Given the description of an element on the screen output the (x, y) to click on. 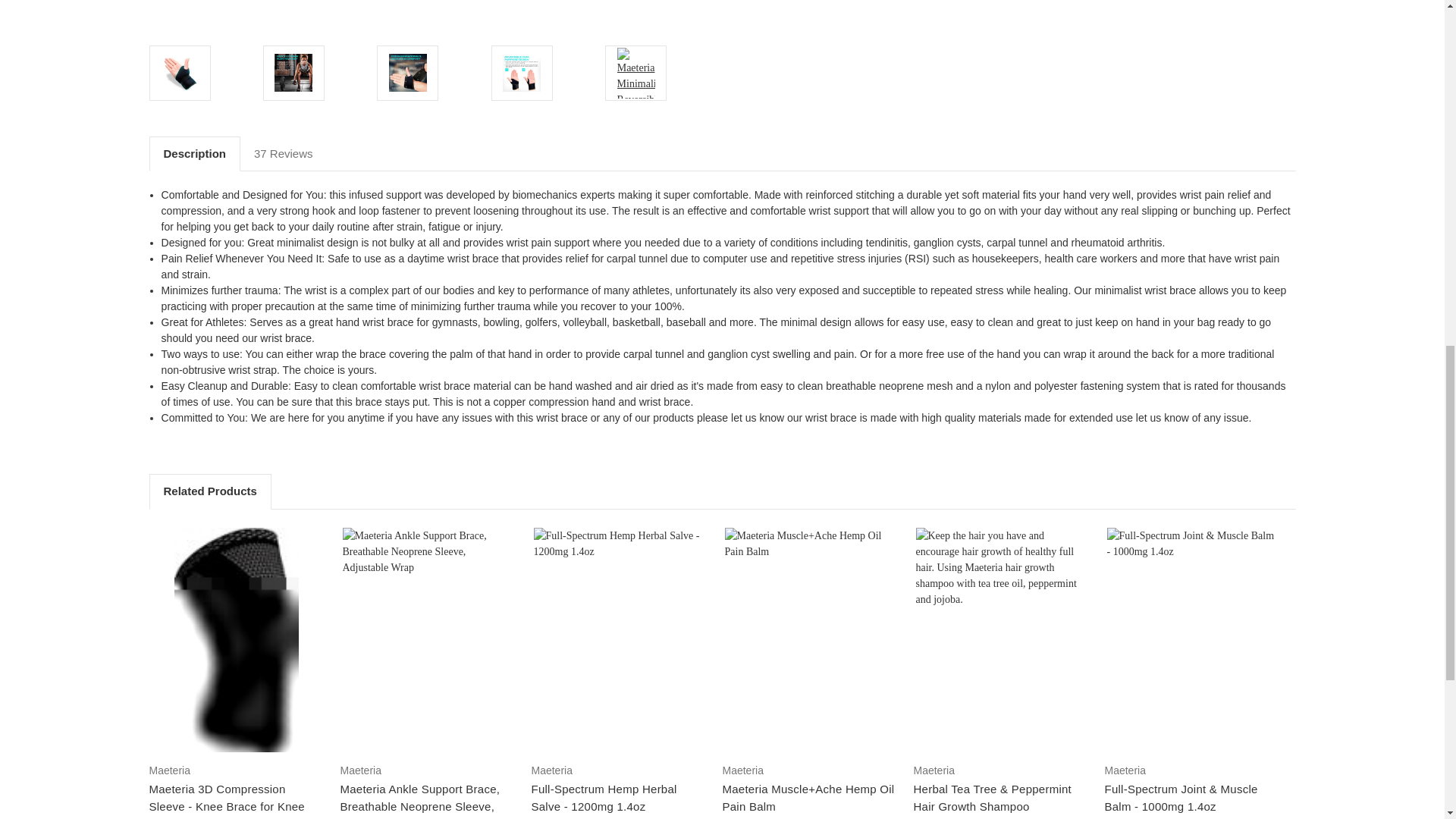
Email (766, 8)
X (819, 8)
Pinterest (845, 8)
Facebook (740, 8)
Print (793, 8)
